Given the description of an element on the screen output the (x, y) to click on. 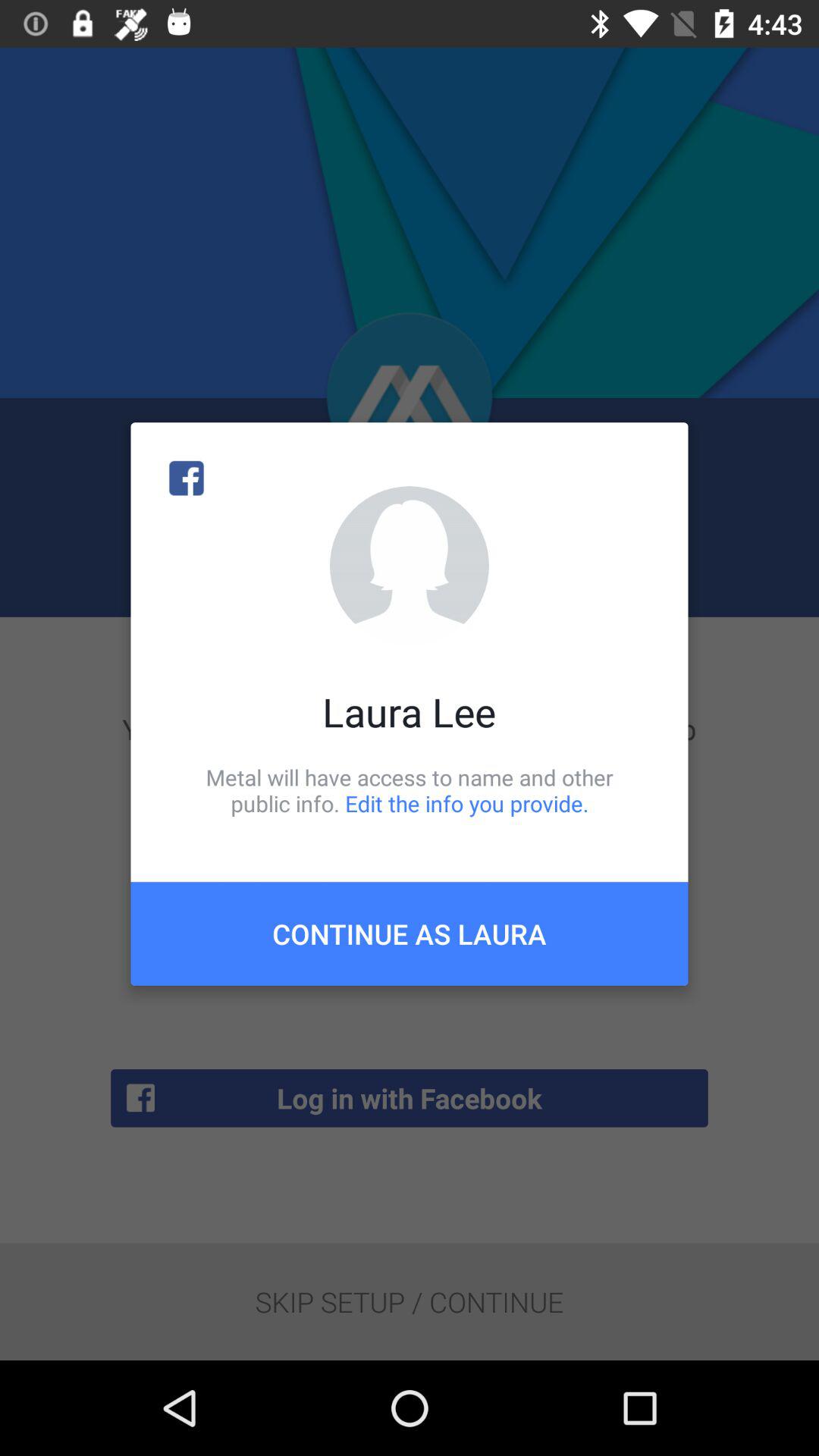
jump to metal will have (409, 790)
